Given the description of an element on the screen output the (x, y) to click on. 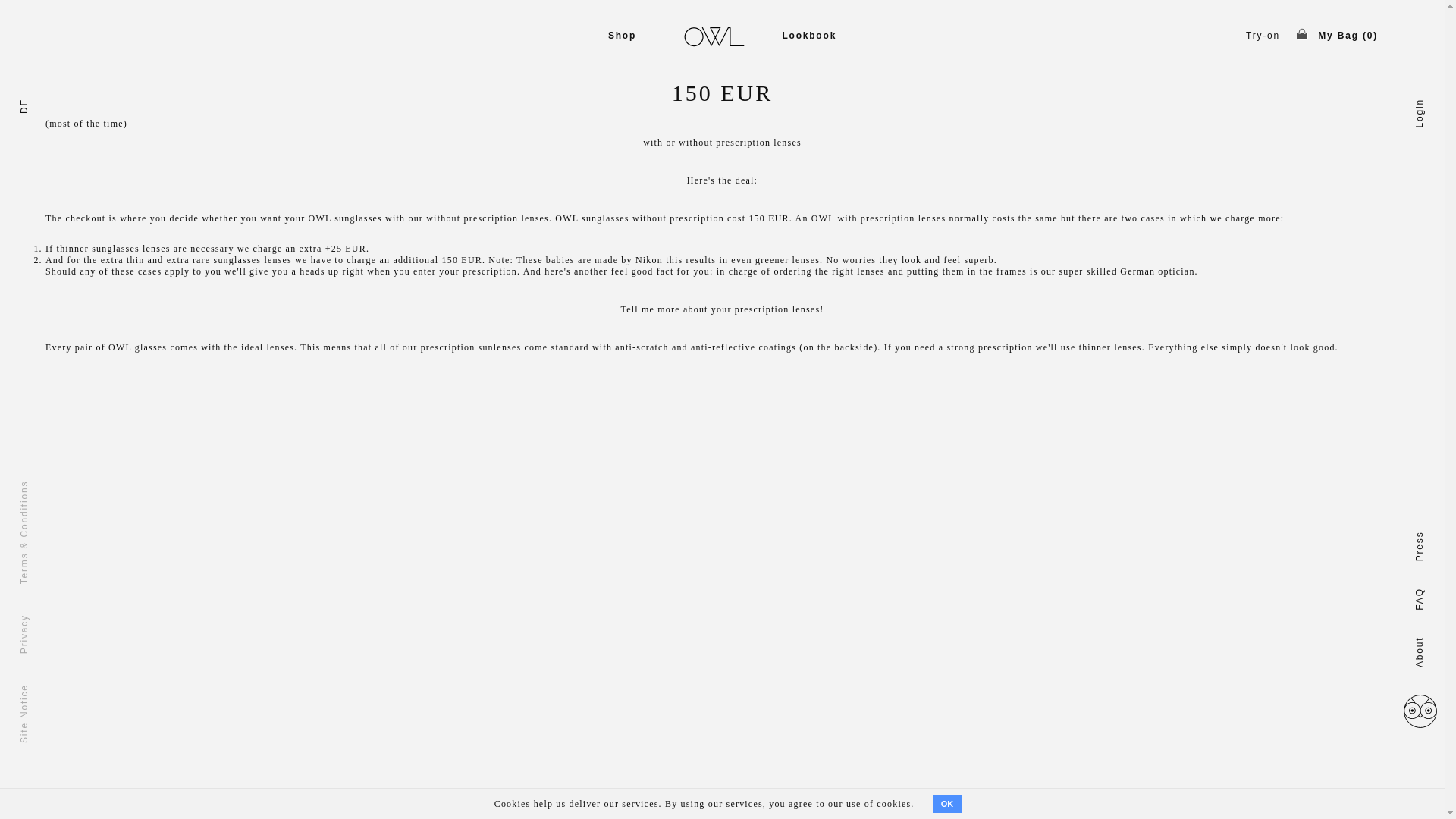
DE (25, 103)
Lookbook (808, 35)
Login (1427, 103)
Shop (622, 35)
Try-on (1262, 35)
